Given the description of an element on the screen output the (x, y) to click on. 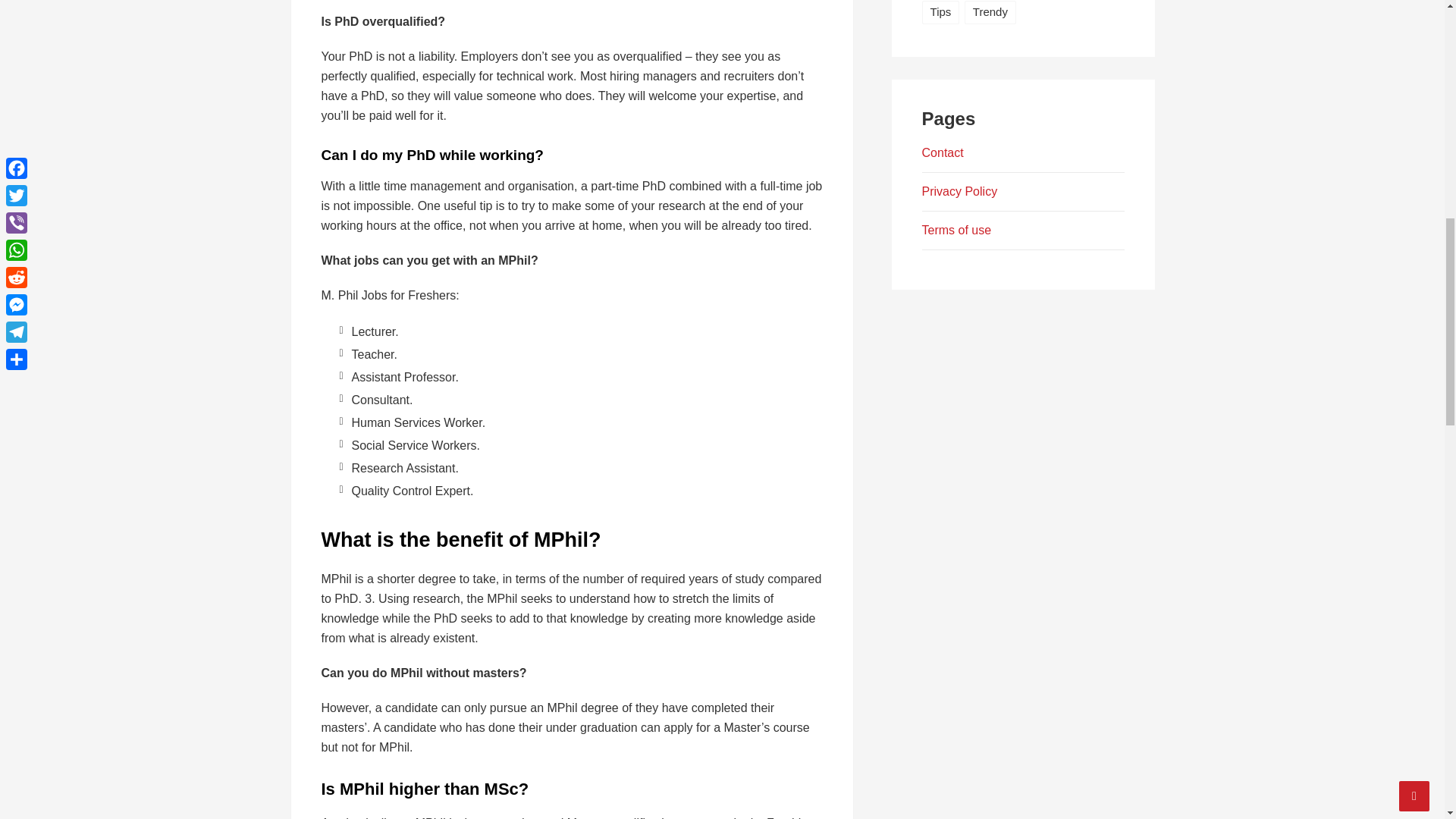
Terms of use (956, 229)
Trendy (989, 11)
Privacy Policy (959, 191)
Tips (940, 11)
Contact (942, 152)
